Given the description of an element on the screen output the (x, y) to click on. 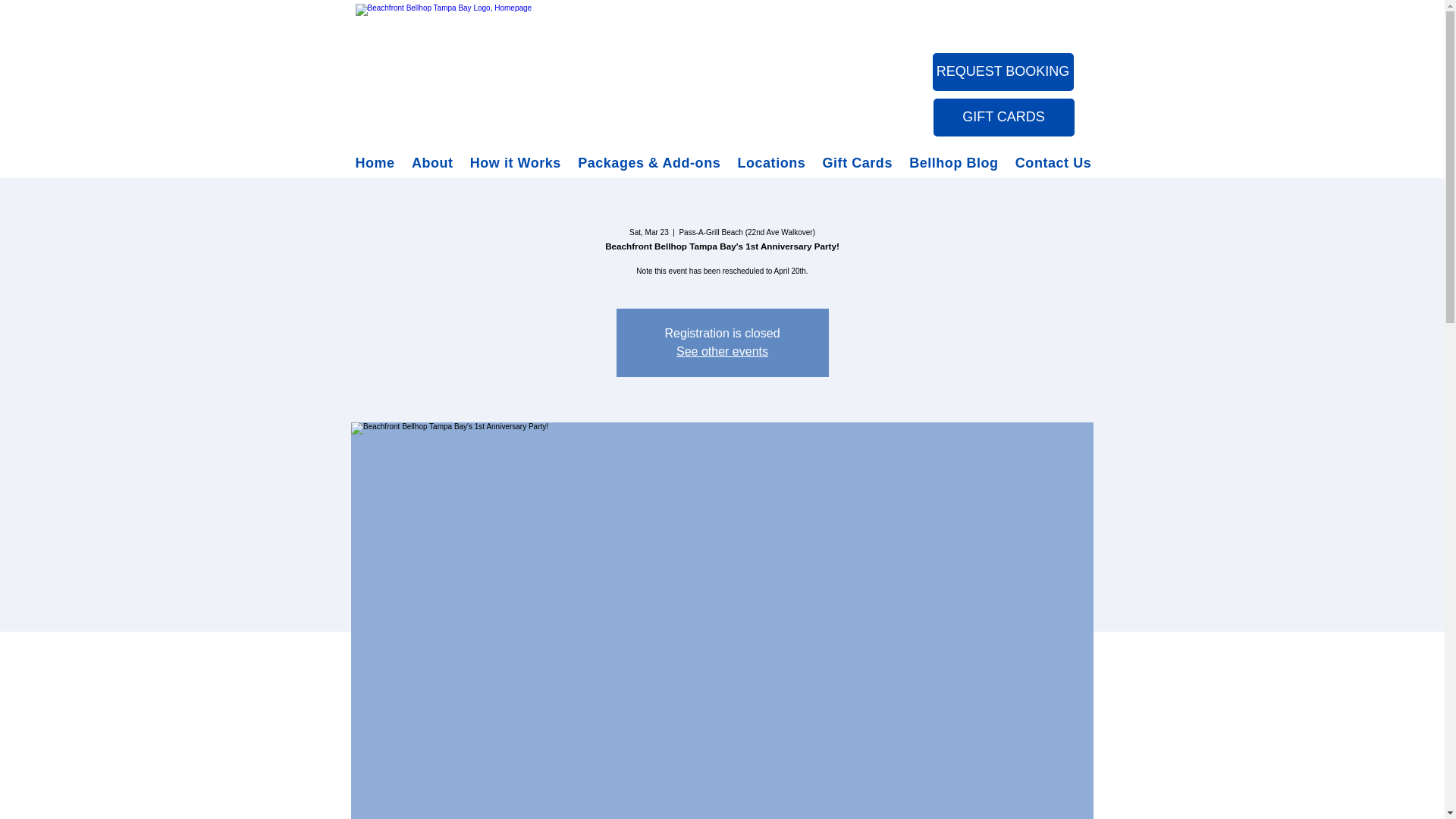
Locations (773, 162)
Home (377, 162)
GIFT CARDS (1003, 117)
How it Works (518, 162)
Contact Us (1056, 162)
About (435, 162)
Gift Cards (861, 162)
REQUEST BOOKING (1003, 71)
Bellhop Blog (956, 162)
See other events (722, 350)
